Given the description of an element on the screen output the (x, y) to click on. 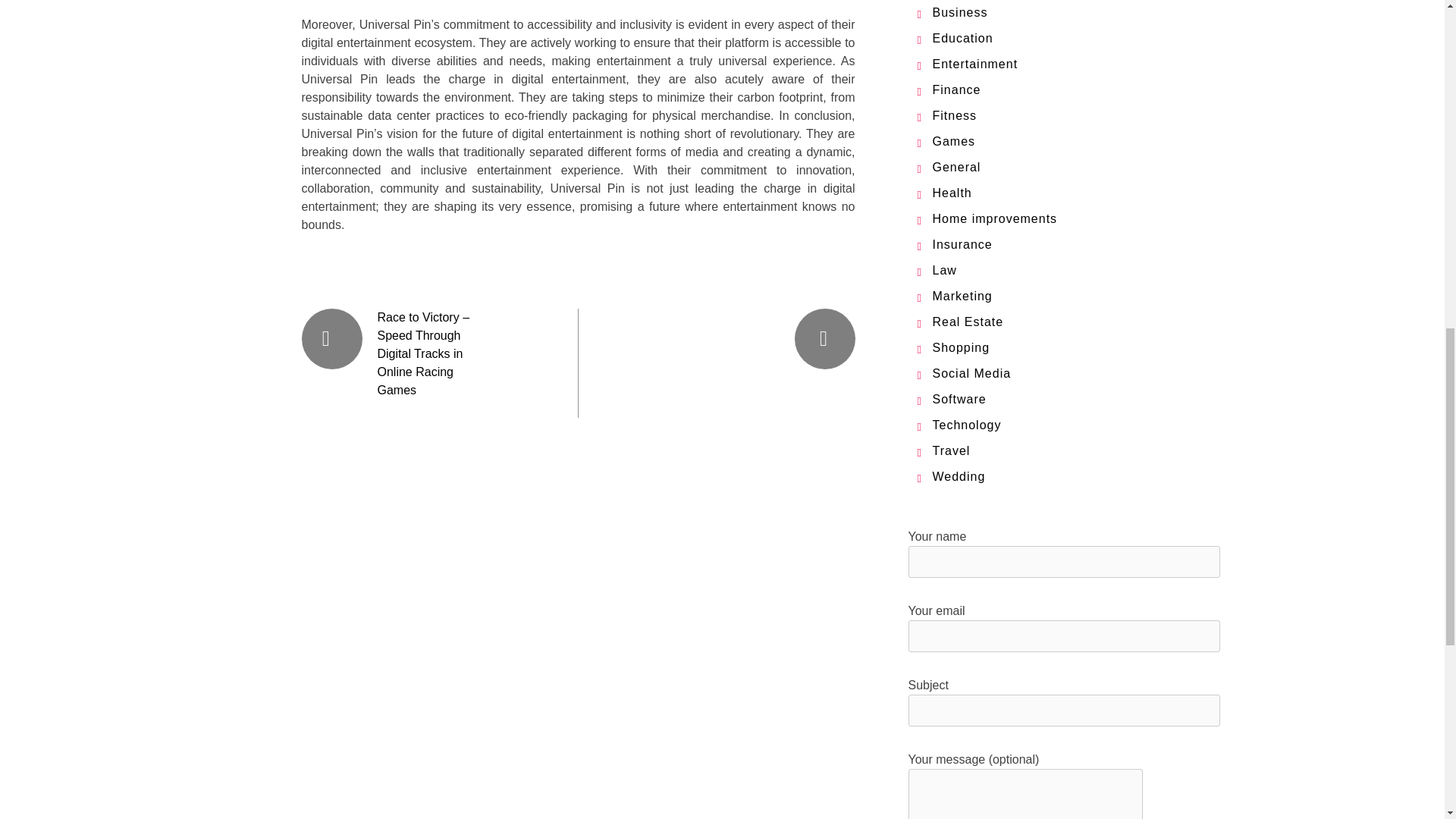
Marketing (962, 295)
Education (962, 38)
Finance (957, 89)
Law (944, 269)
General (957, 166)
Home improvements (995, 218)
Insurance (962, 244)
Fitness (954, 115)
Games (954, 141)
Business (960, 11)
